Given the description of an element on the screen output the (x, y) to click on. 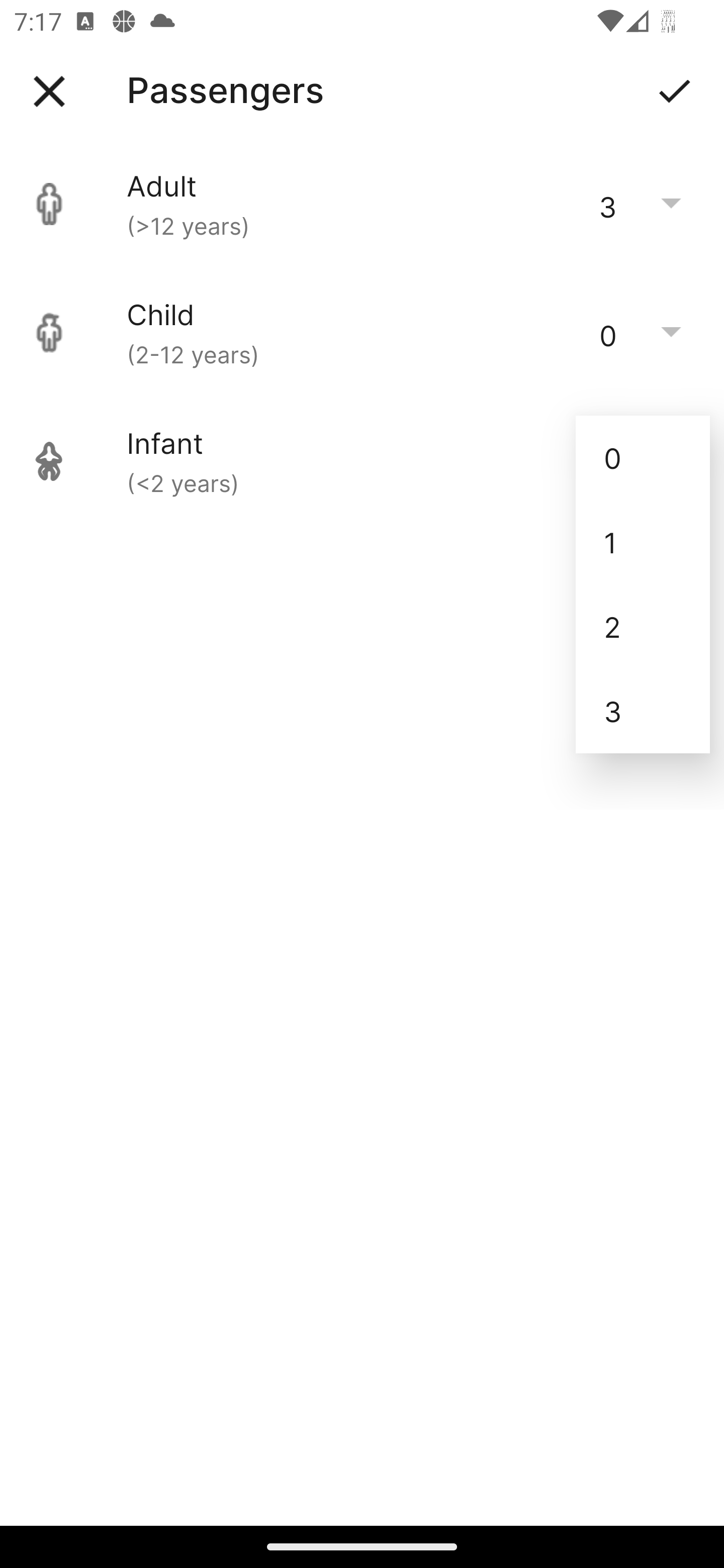
0 (642, 457)
1 (642, 542)
2 (642, 626)
3 (642, 710)
